Given the description of an element on the screen output the (x, y) to click on. 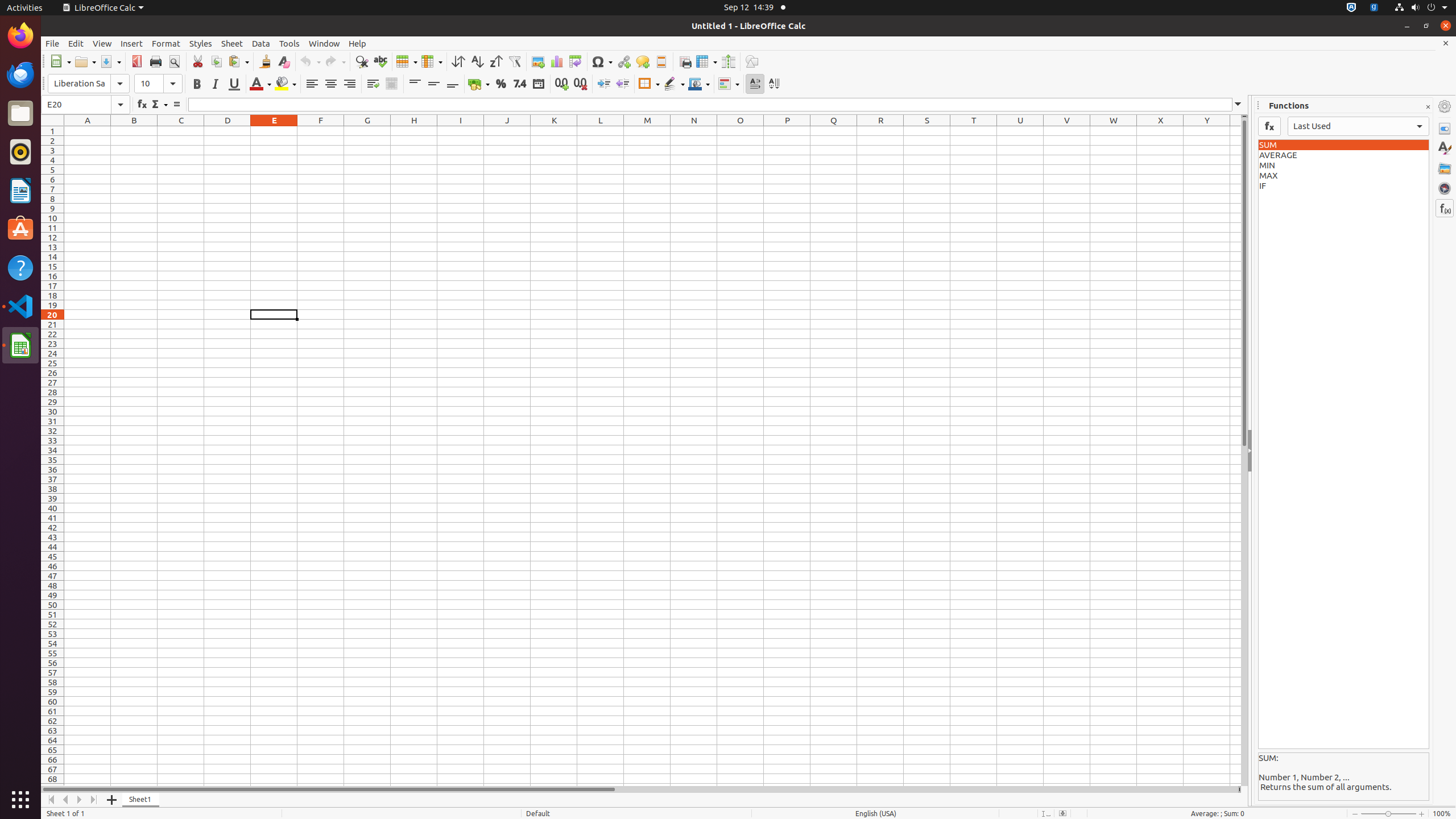
J1 Element type: table-cell (507, 130)
M1 Element type: table-cell (646, 130)
Rhythmbox Element type: push-button (20, 151)
Split Window Element type: push-button (727, 61)
Function Wizard Element type: push-button (141, 104)
